Given the description of an element on the screen output the (x, y) to click on. 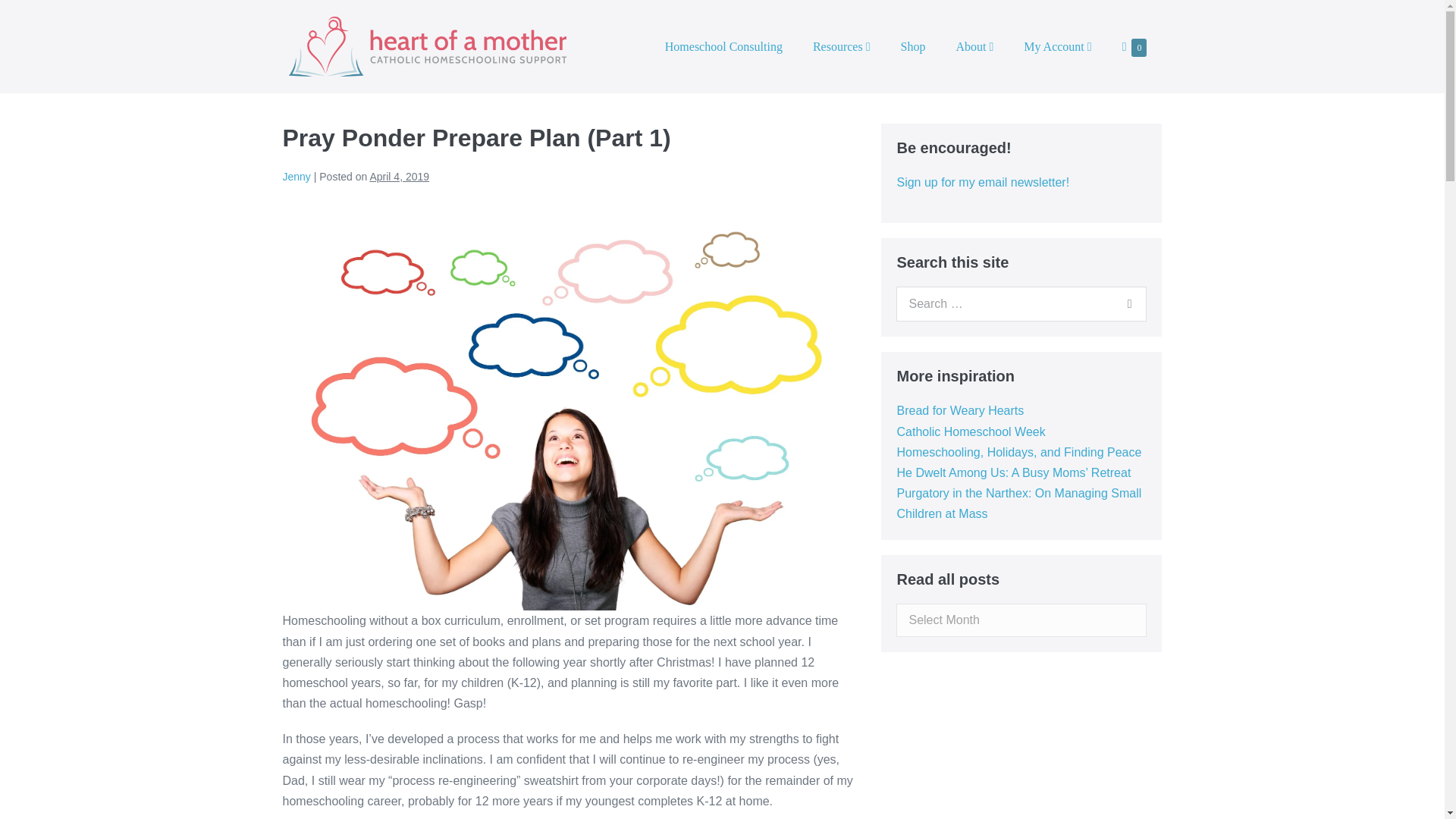
My Account (1057, 46)
Homeschool Consulting (723, 46)
Shopping Cart (1133, 46)
About (974, 46)
View all posts by Jenny (296, 176)
Resources (841, 46)
Shop (912, 46)
Press enter to search (1133, 46)
Jenny (1021, 303)
